Given the description of an element on the screen output the (x, y) to click on. 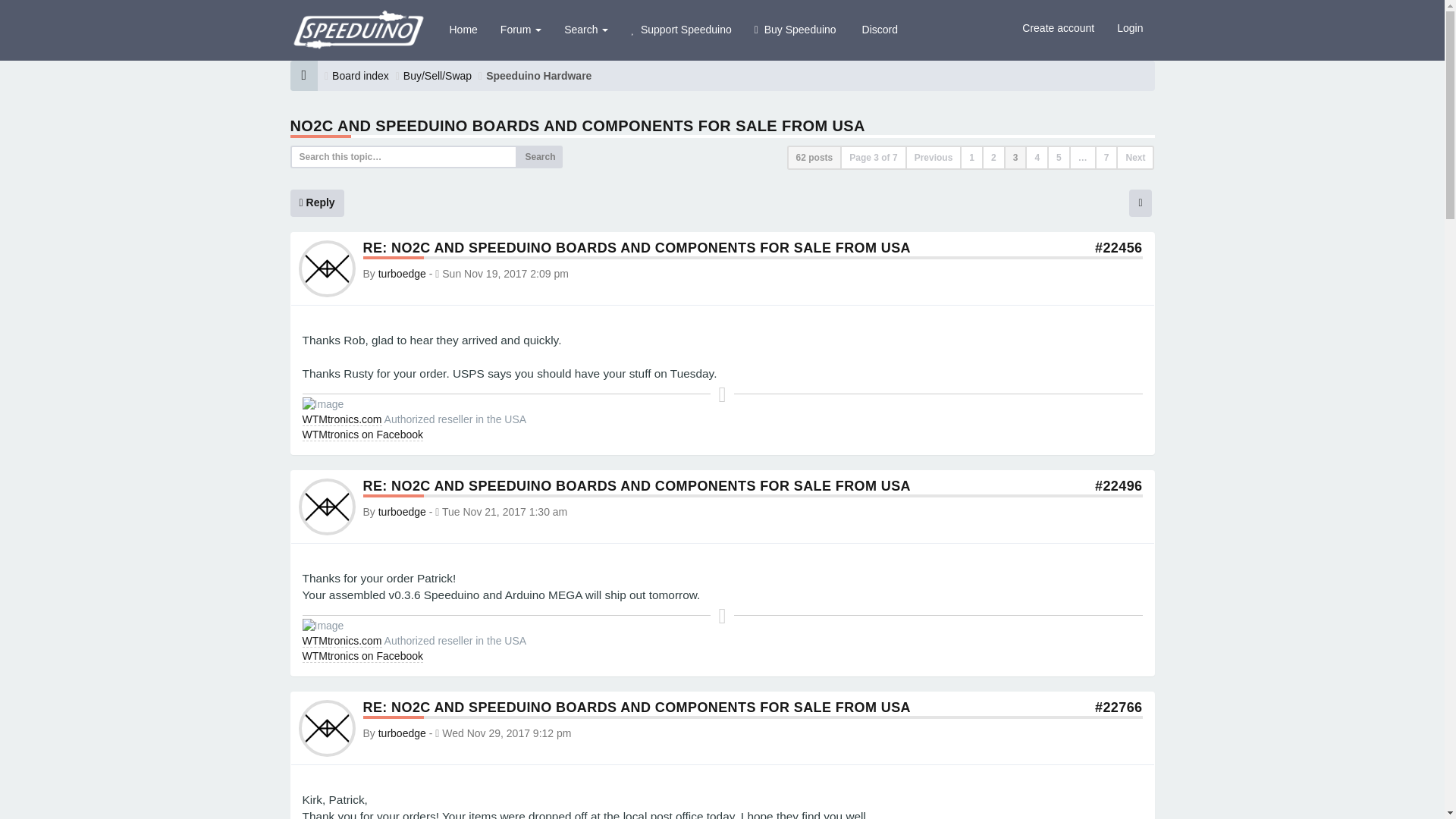
NO2C AND SPEEDUINO BOARDS AND COMPONENTS FOR SALE FROM USA (576, 125)
  Buy Speeduino (794, 29)
Search (539, 156)
Forum  (521, 29)
  Support Speeduino (681, 29)
Discord (877, 29)
3 (1015, 157)
62 posts (815, 157)
Board index (359, 75)
